Given the description of an element on the screen output the (x, y) to click on. 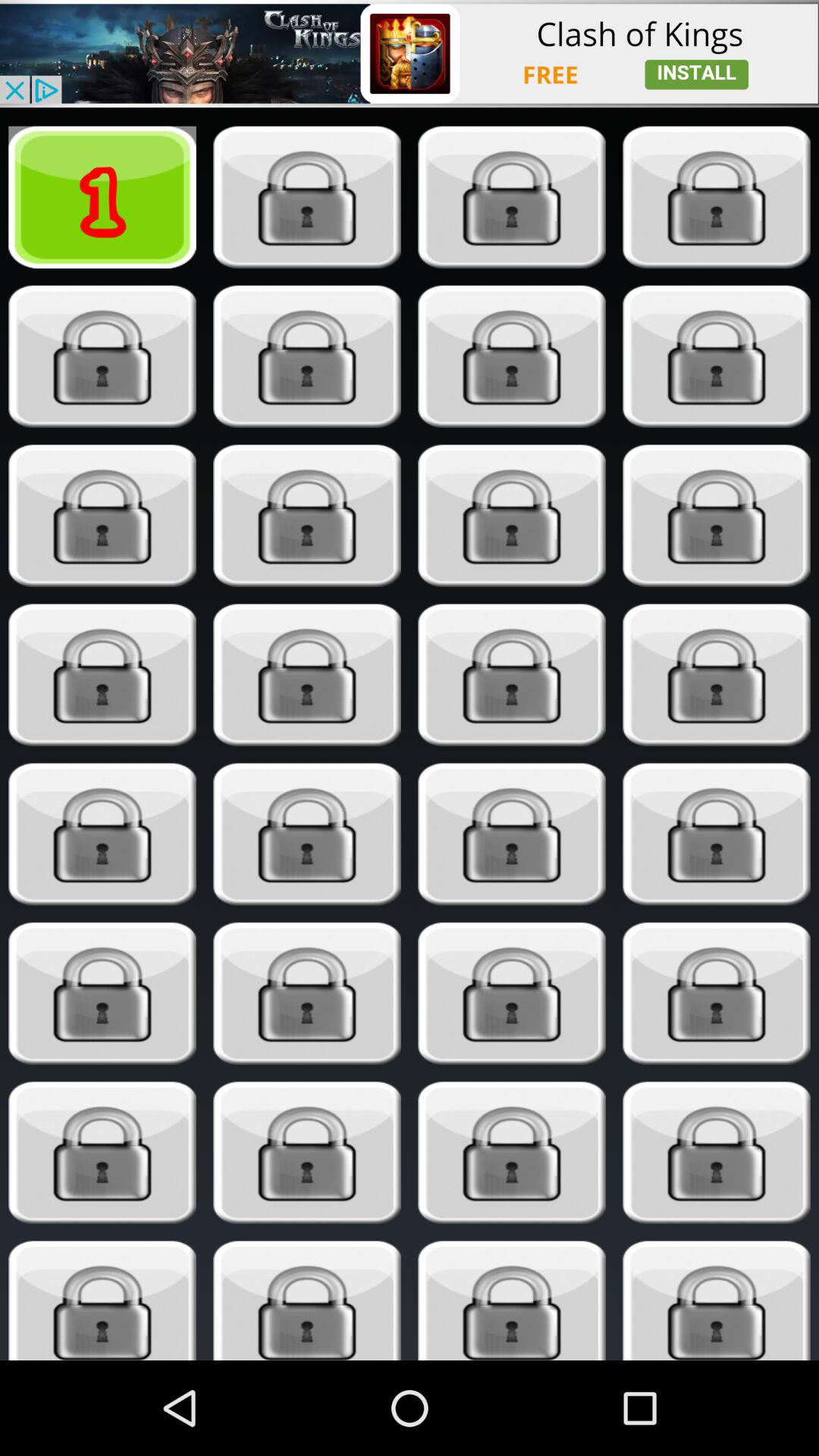
select the widget (306, 993)
